Given the description of an element on the screen output the (x, y) to click on. 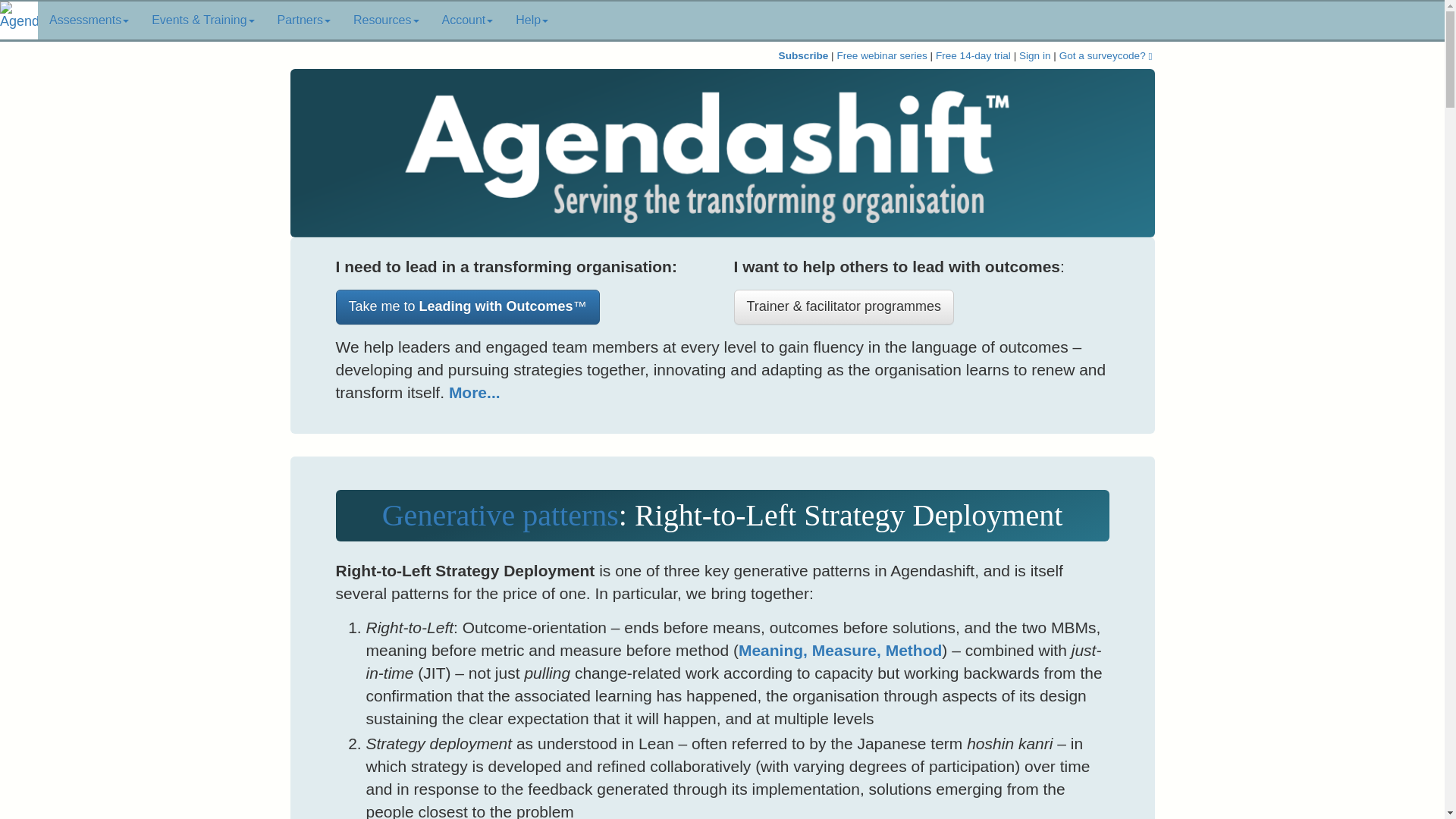
Assessments (88, 20)
Partners (304, 20)
Resources (385, 20)
Account (467, 20)
